Given the description of an element on the screen output the (x, y) to click on. 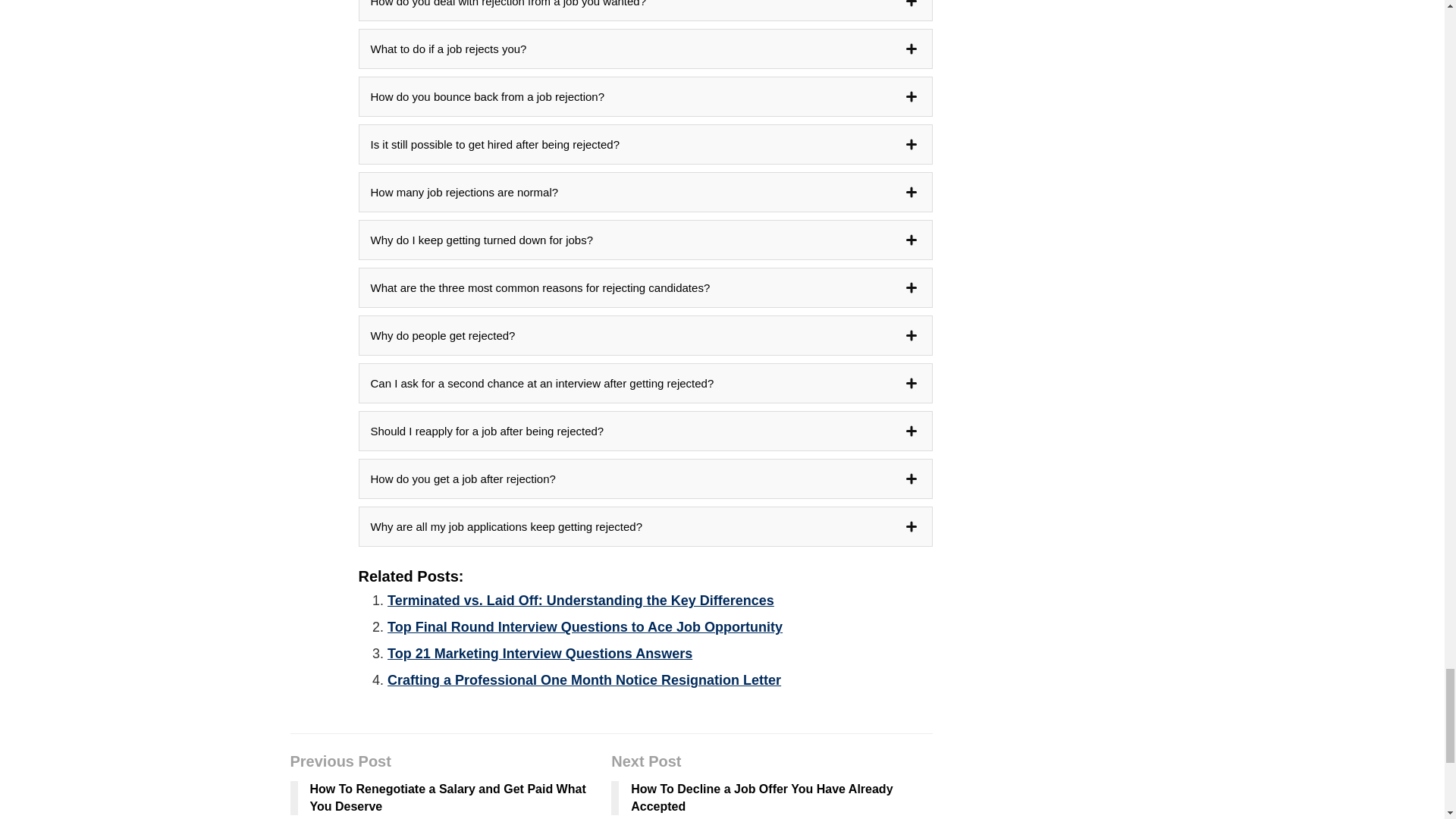
Top Final Round Interview Questions to Ace Job Opportunity (585, 626)
Terminated vs. Laid Off: Understanding the Key Differences (580, 600)
Top 21 Marketing Interview Questions Answers (540, 653)
Crafting a Professional One Month Notice Resignation Letter (583, 679)
